Given the description of an element on the screen output the (x, y) to click on. 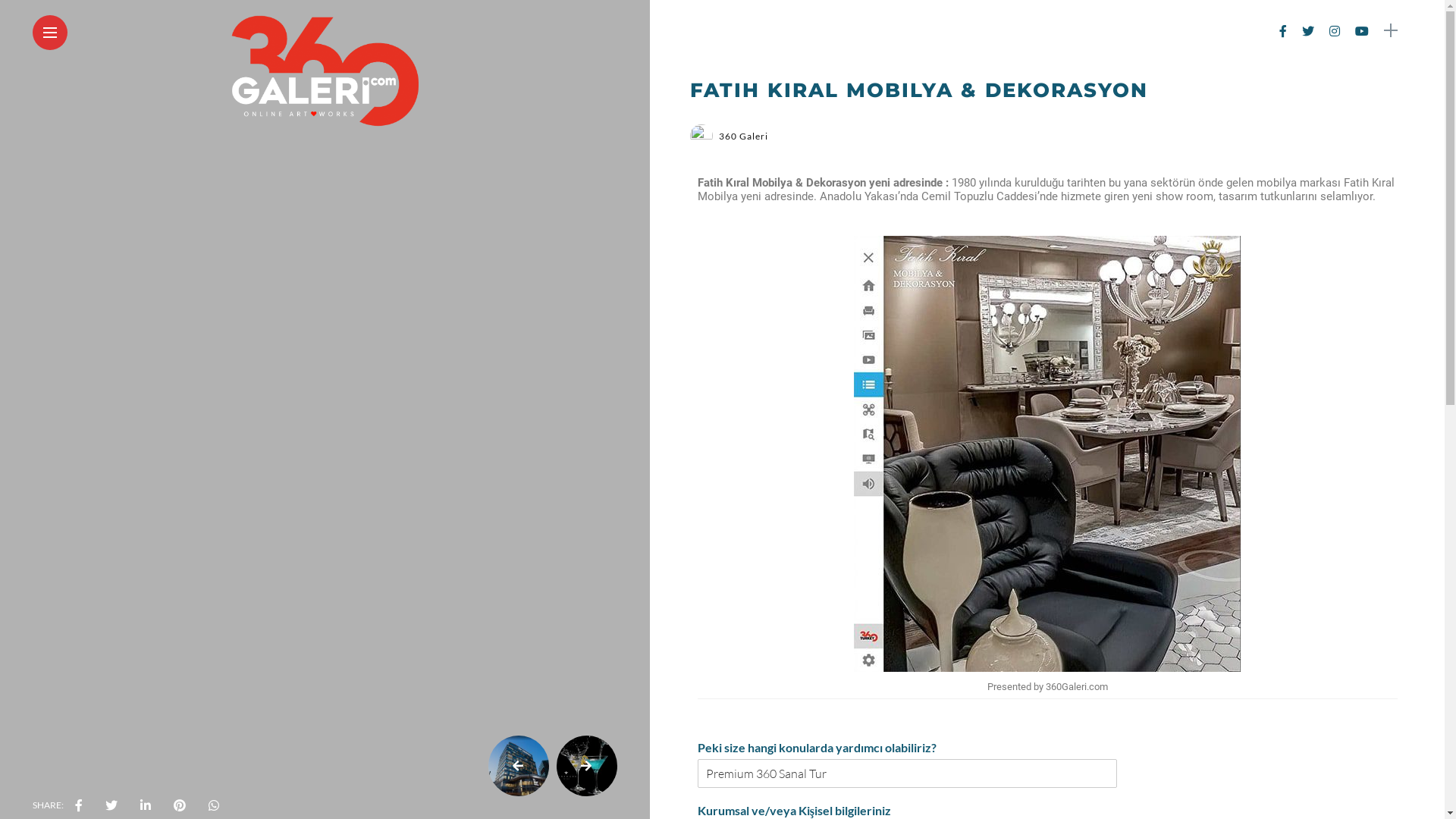
360 Galeri Element type: text (743, 135)
